Given the description of an element on the screen output the (x, y) to click on. 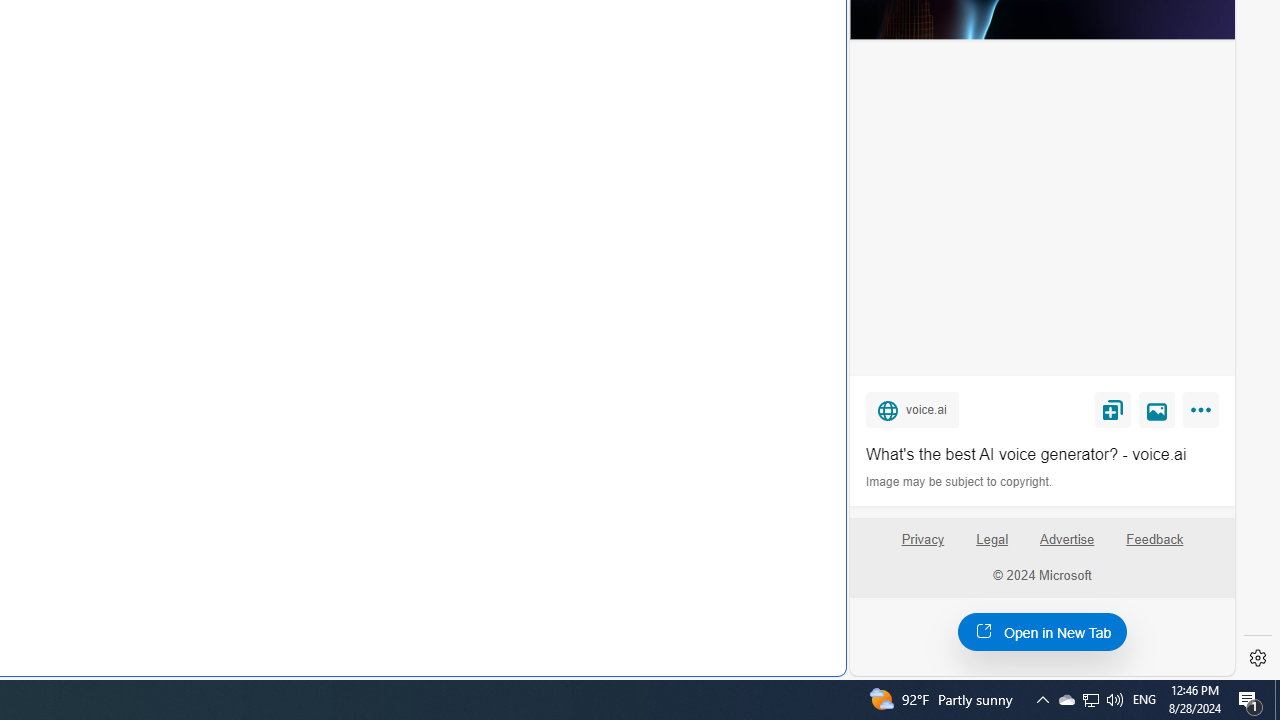
Privacy (922, 539)
Legal (991, 539)
More (1204, 413)
Advertise (1066, 539)
voice.ai (912, 409)
Legal (992, 547)
What's the best AI voice generator? - voice.ai (1042, 454)
Image may be subject to copyright. (959, 481)
Settings (1258, 658)
Save (1112, 409)
Privacy (922, 547)
Feedback (1154, 547)
Open in New Tab (1042, 631)
